Given the description of an element on the screen output the (x, y) to click on. 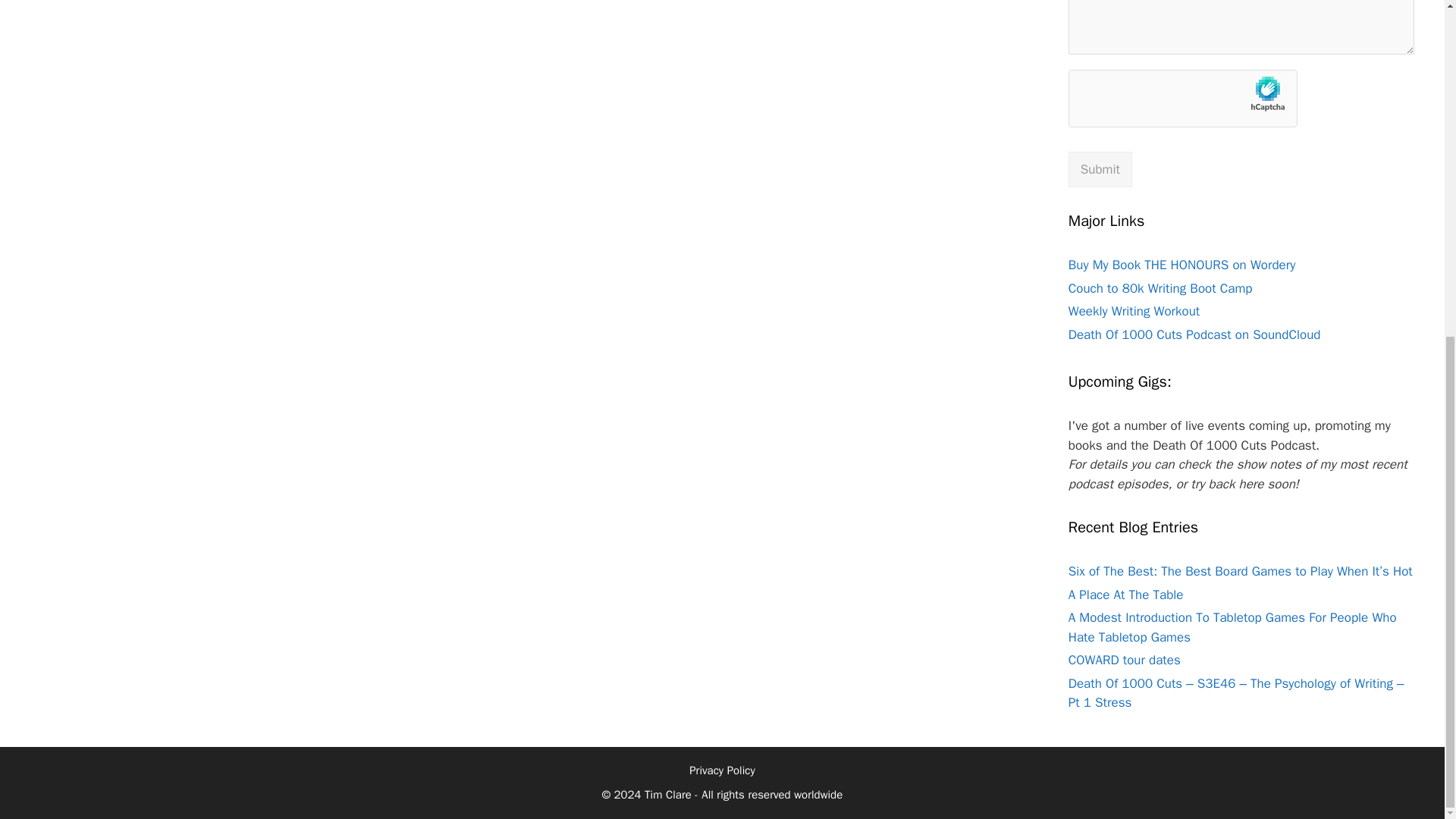
Privacy Policy (721, 770)
Couch to 80k Writing Boot Camp (1160, 288)
Death Of 1000 Cuts Podcast on SoundCloud (1194, 334)
Weekly Writing Workout (1133, 311)
A Place At The Table (1125, 594)
COWARD tour dates (1124, 659)
Submit (1100, 169)
Buy My Book THE HONOURS on Wordery (1181, 264)
